Given the description of an element on the screen output the (x, y) to click on. 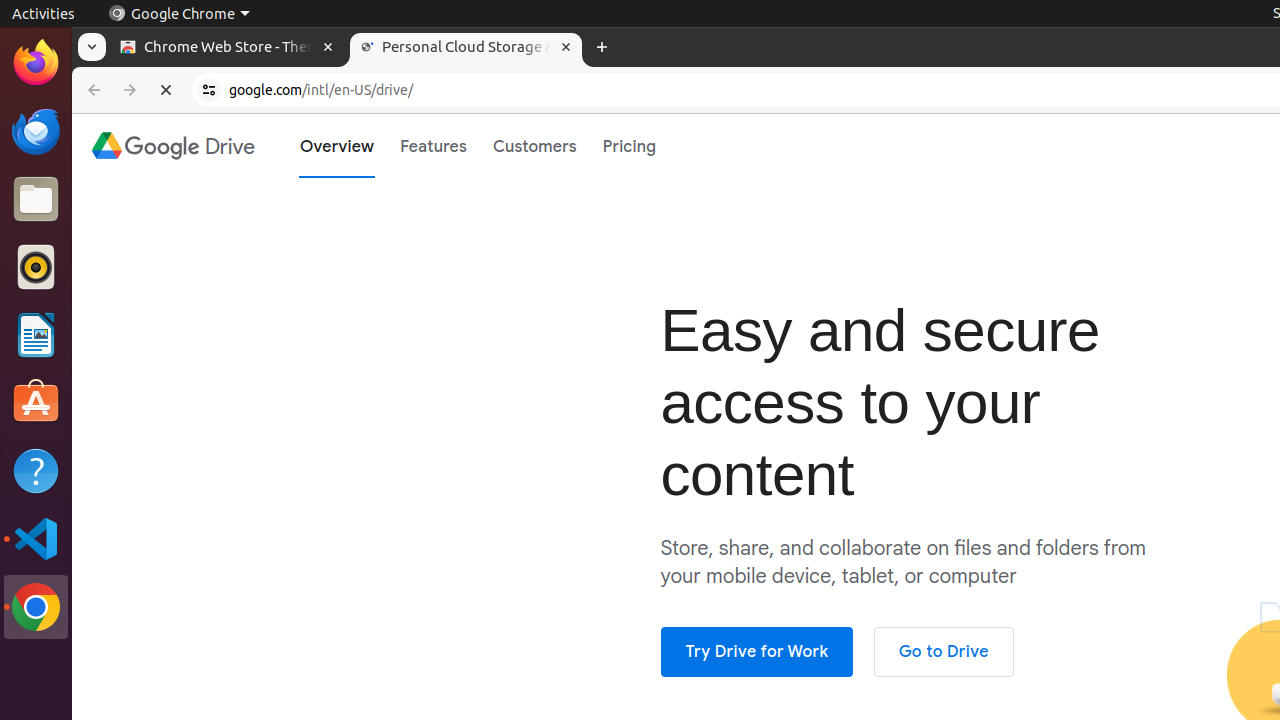
LibreOffice Writer Element type: push-button (36, 334)
Google Drive Element type: link (172, 146)
Reload Element type: push-button (166, 90)
Forward Element type: push-button (130, 90)
Rhythmbox Element type: push-button (36, 267)
